Given the description of an element on the screen output the (x, y) to click on. 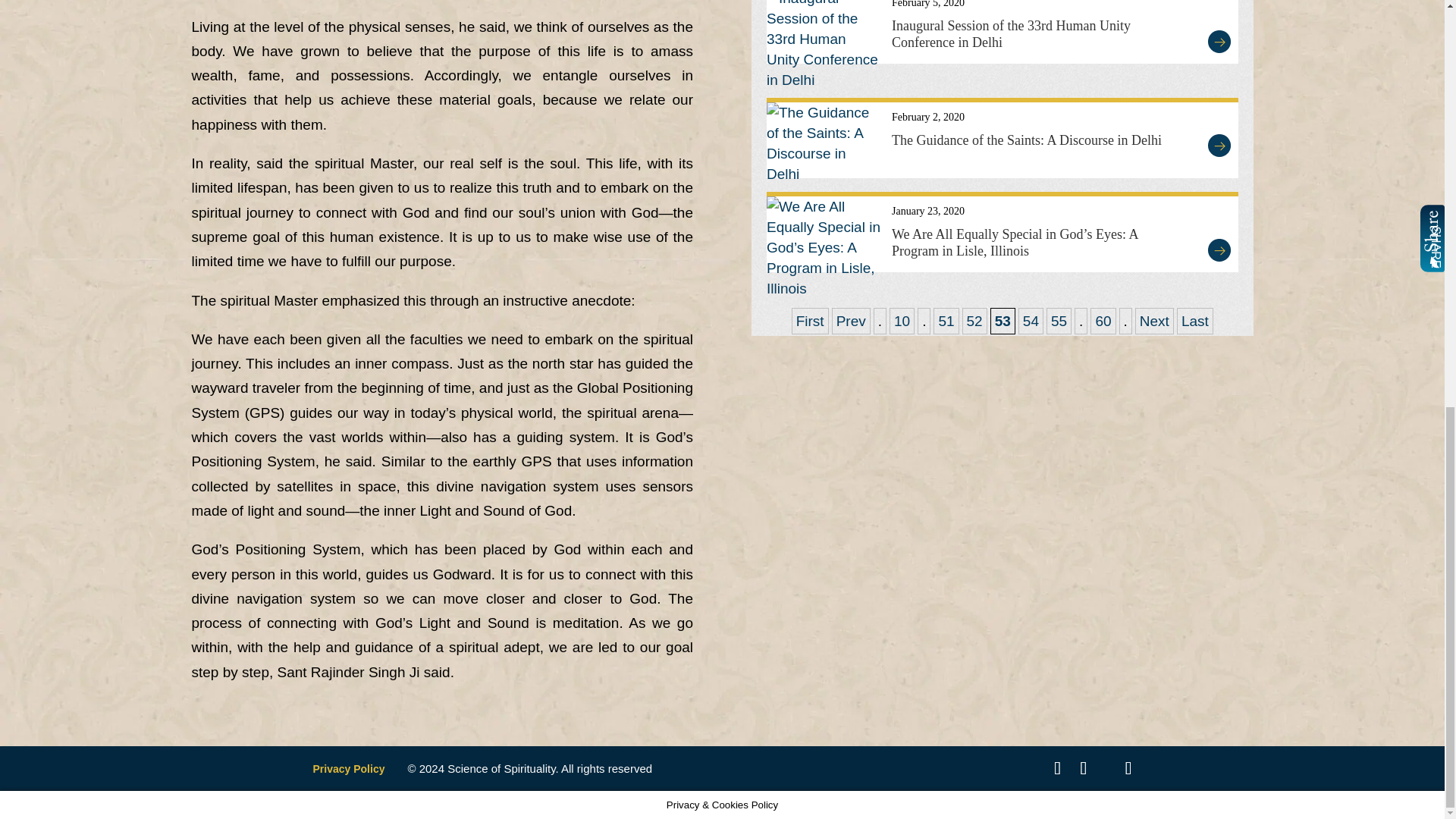
Page 54 (1030, 320)
Page 55 (1058, 320)
Page 52 (974, 320)
Page 60 (1102, 320)
Page 51 (945, 320)
Page 10 (901, 320)
